Given the description of an element on the screen output the (x, y) to click on. 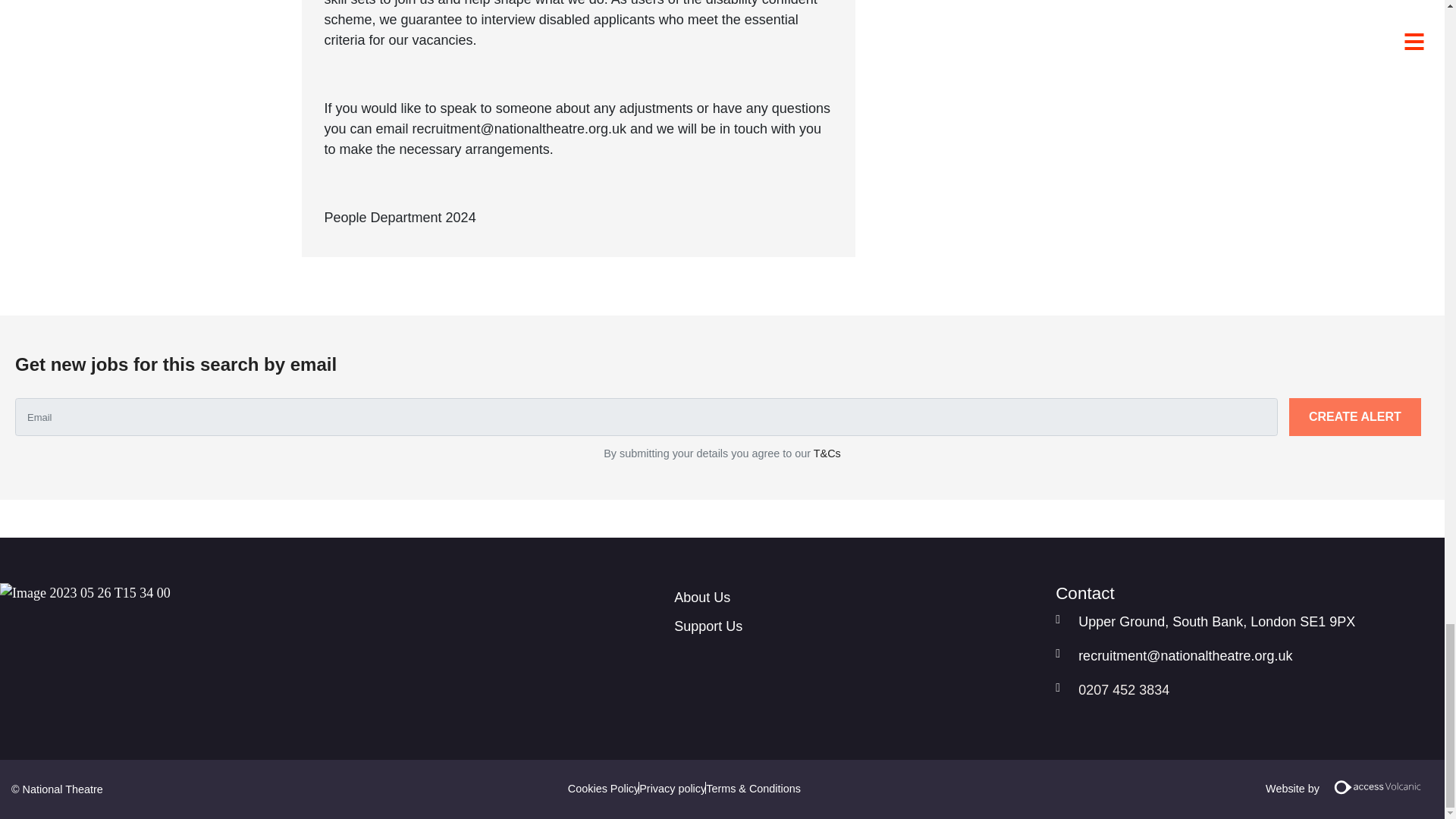
CREATE ALERT (1354, 416)
Support Us (855, 625)
About Us (855, 597)
Privacy policy (672, 788)
Cookies Policy (603, 788)
